Given the description of an element on the screen output the (x, y) to click on. 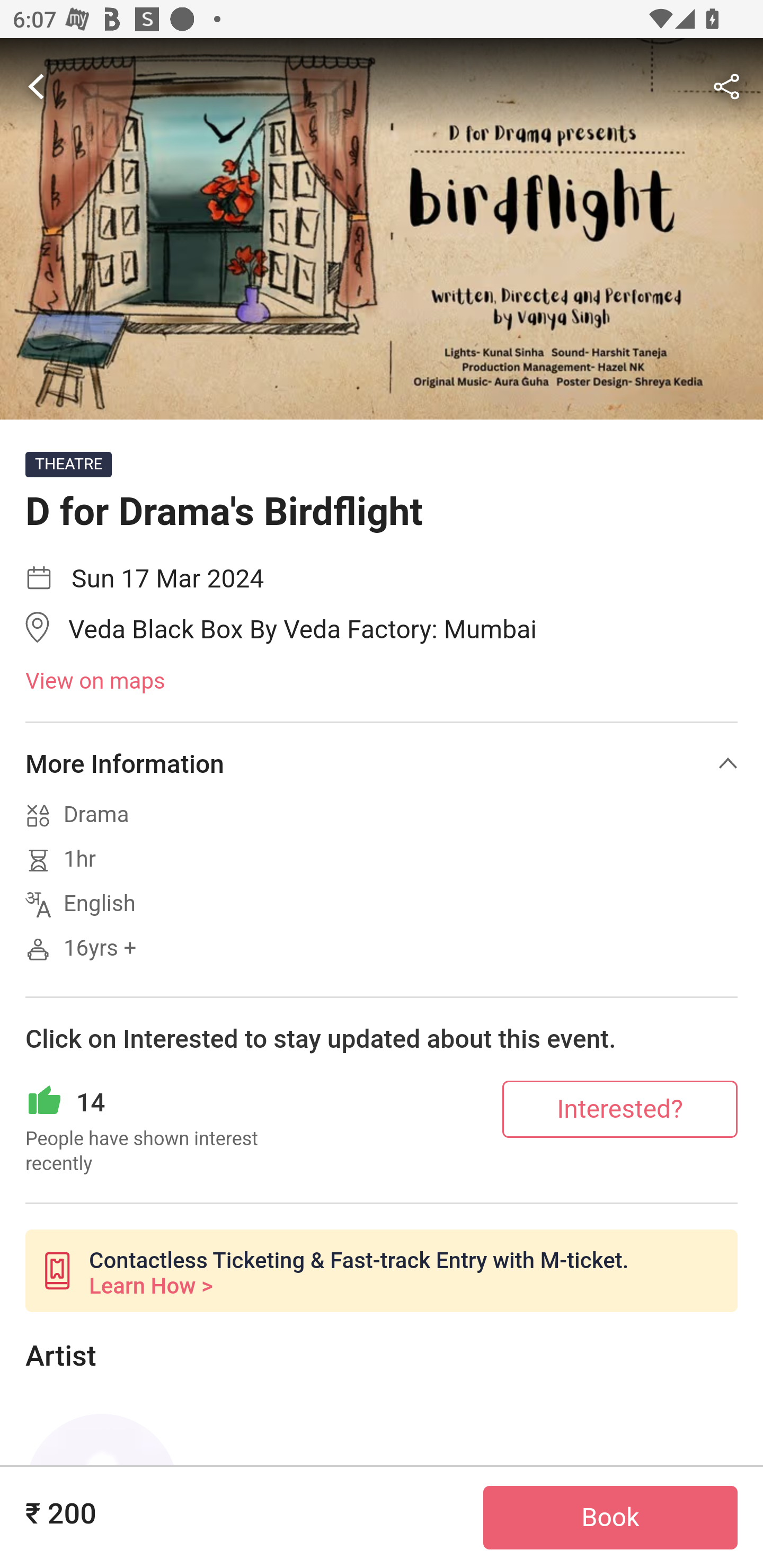
View on maps (381, 681)
More Information (381, 763)
Interested? (619, 1108)
Learn How > (150, 1286)
Book (609, 1517)
